Given the description of an element on the screen output the (x, y) to click on. 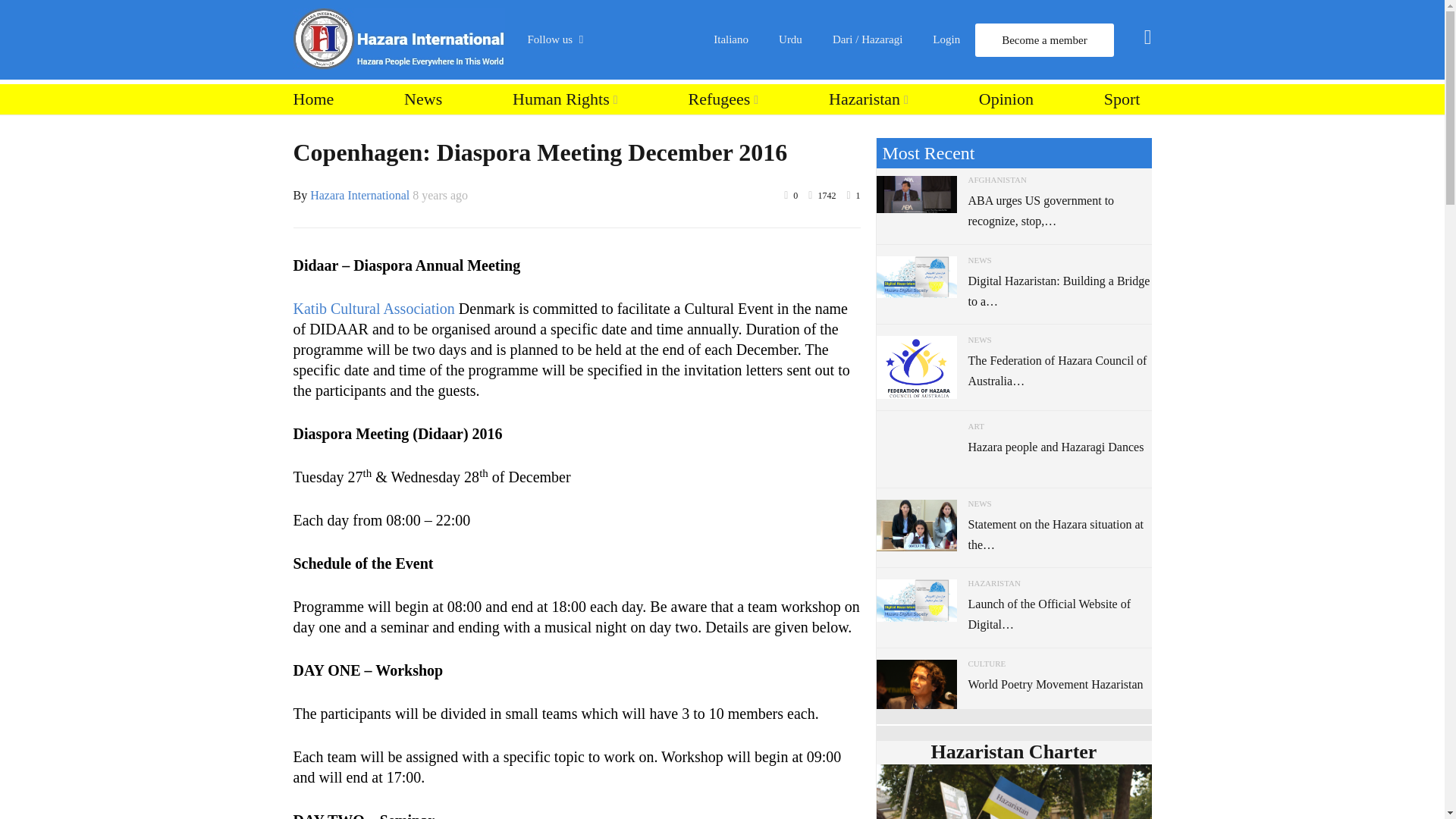
Follow us on Twitter (614, 136)
Follow us on Facebook (614, 98)
View all posts in Afghanistan (997, 179)
Follow us (562, 39)
Follow us on Instagram (614, 214)
Follow us on YouTube (614, 175)
Become a member (1044, 39)
Follow us on Twitter (614, 136)
View all posts in News (979, 259)
Follow us on YouTube (614, 175)
